Given the description of an element on the screen output the (x, y) to click on. 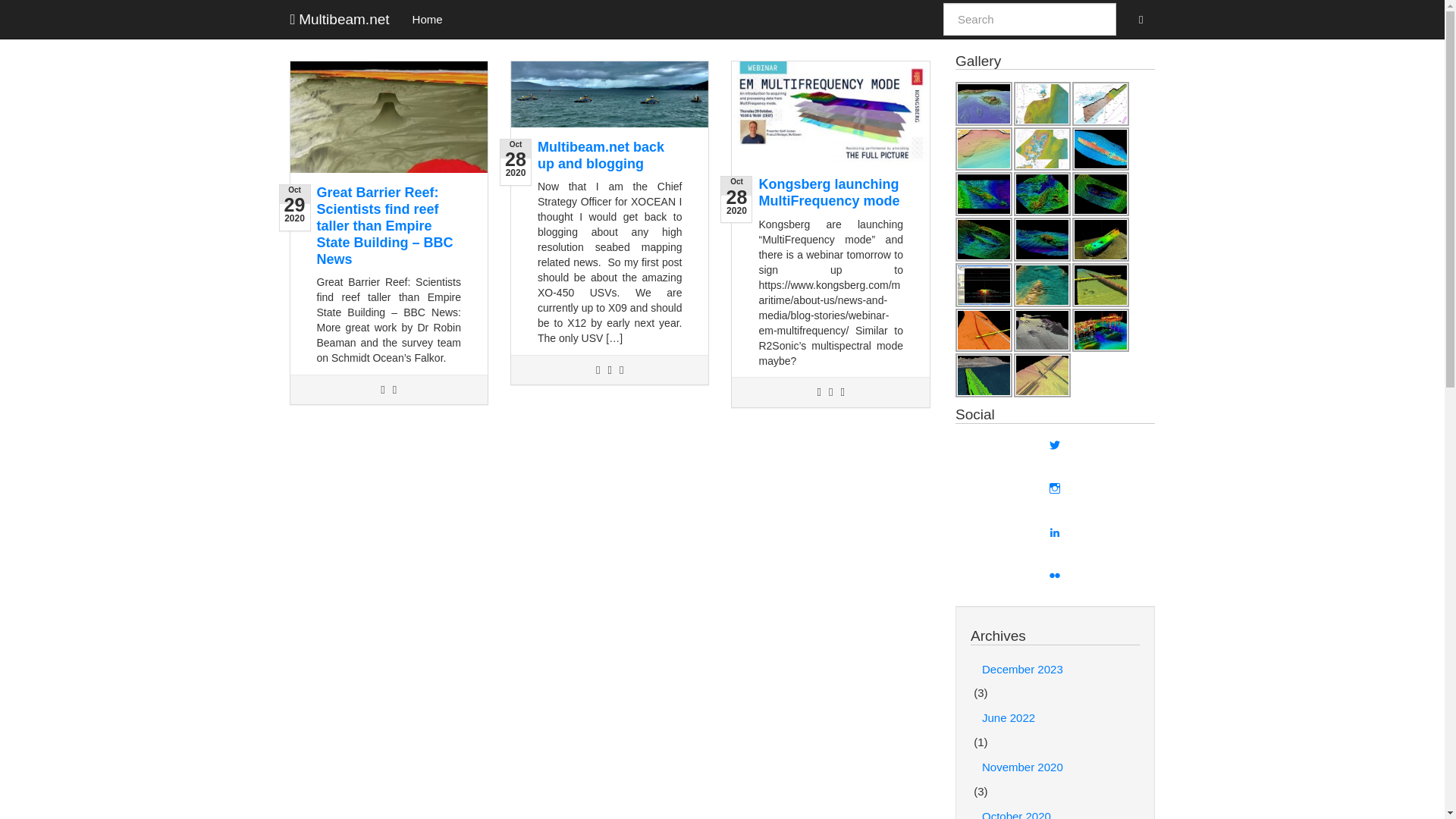
Kongsberg launching MultiFrequency mode (828, 192)
October 2020 (1055, 809)
December 2023 (1055, 668)
Home (427, 18)
June 2022 (1055, 717)
Multibeam.net (340, 19)
Multibeam.net back up and blogging (600, 155)
Multibeam.net back up and blogging (600, 155)
November 2020 (1055, 766)
Looking down on Auskerry (1041, 103)
Kongsberg launching MultiFrequency mode (828, 192)
mounts-bay3 (983, 103)
